Given the description of an element on the screen output the (x, y) to click on. 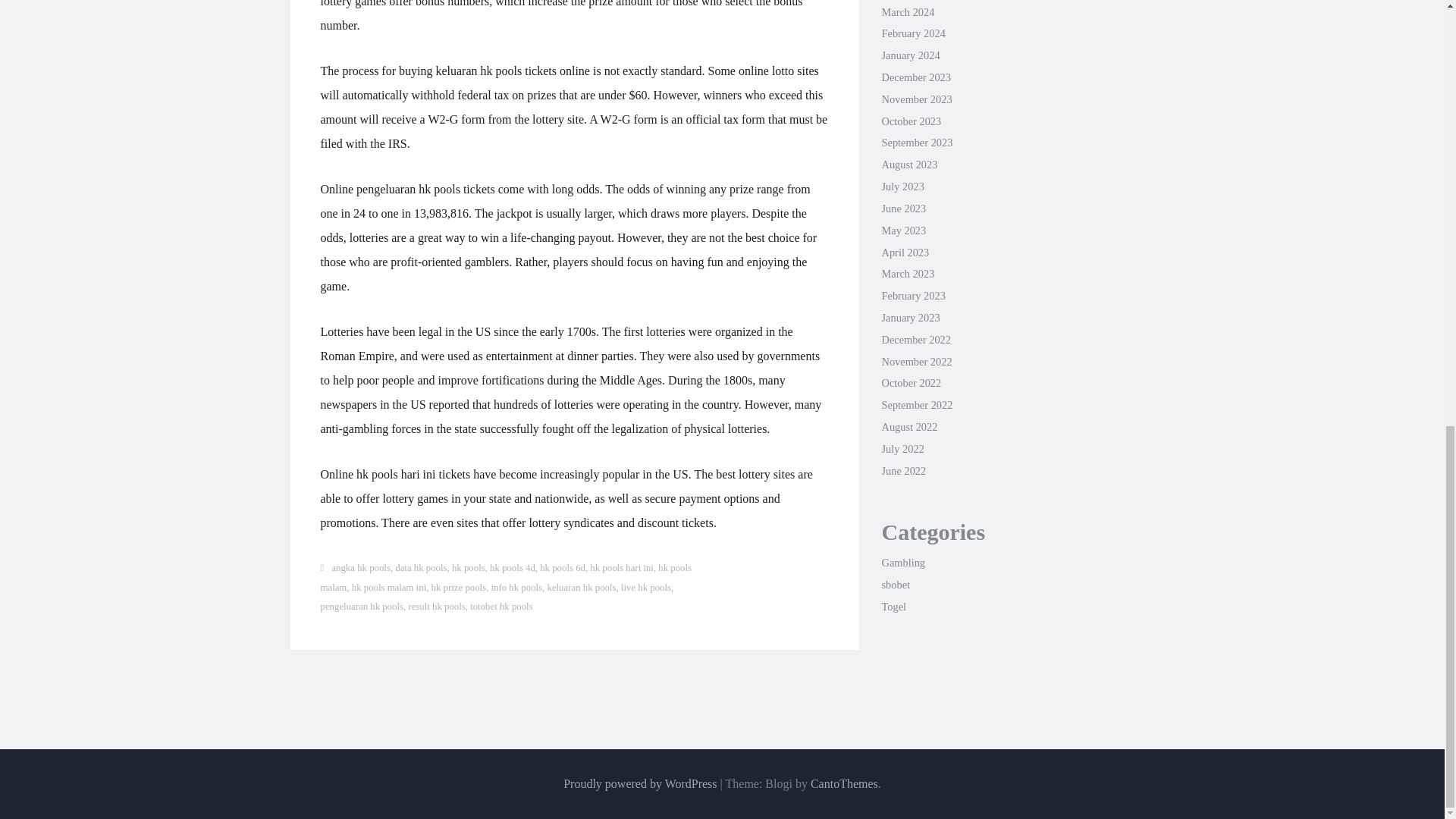
result hk pools (435, 606)
hk pools (467, 567)
live hk pools (646, 587)
info hk pools (517, 587)
data hk pools (420, 567)
angka hk pools (360, 567)
February 2024 (912, 33)
hk pools hari ini (621, 567)
hk prize pools (458, 587)
hk pools 4d (512, 567)
hk pools 6d (562, 567)
hk pools malam ini (389, 587)
March 2024 (907, 11)
January 2024 (909, 55)
totobet hk pools (501, 606)
